Given the description of an element on the screen output the (x, y) to click on. 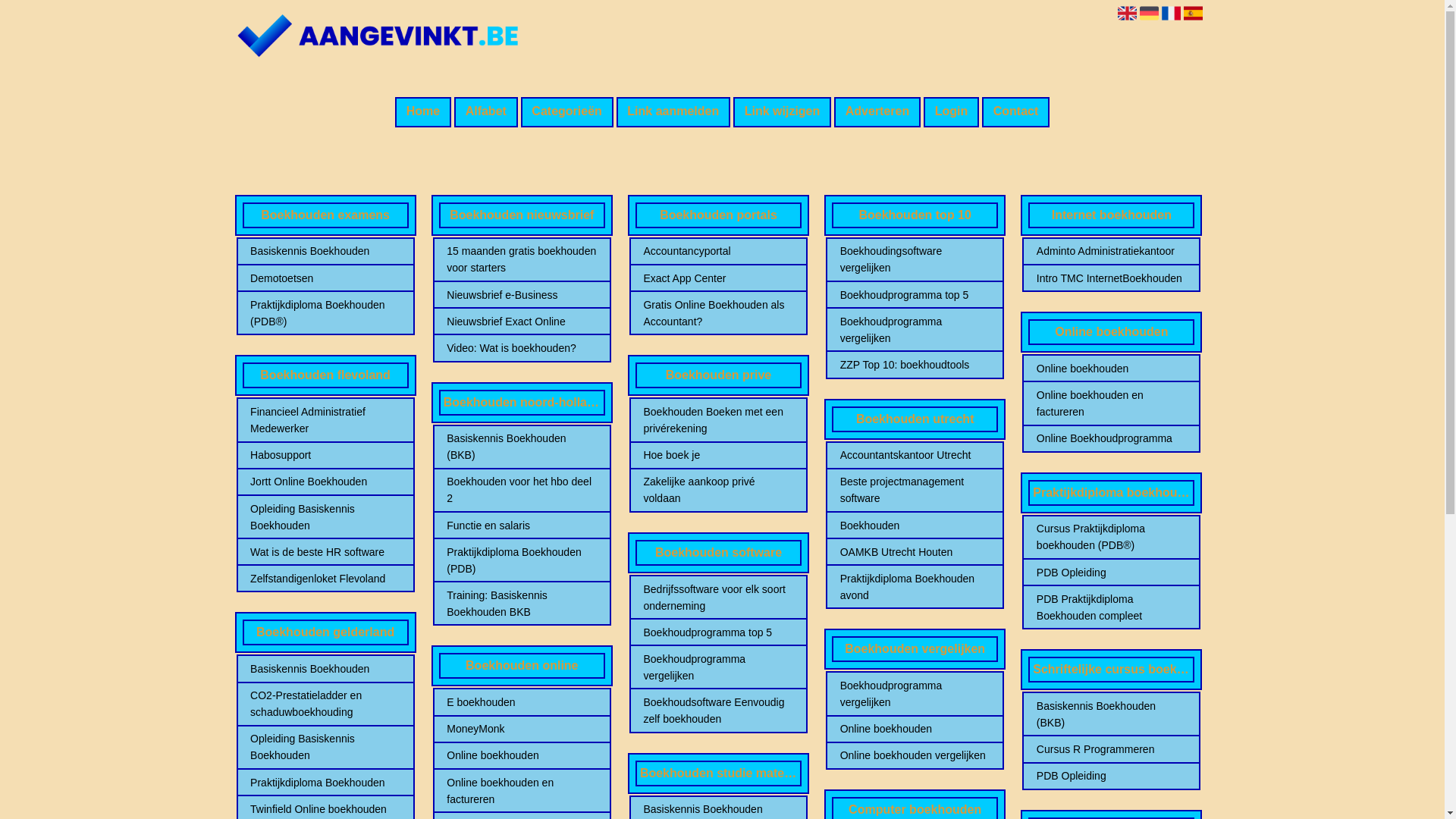
Accountancyportal Element type: text (718, 250)
Intro TMC InternetBoekhouden Element type: text (1111, 277)
Boekhoudprogramma vergelijken Element type: text (915, 693)
Contact Element type: text (1015, 112)
Boekhouden Element type: text (915, 525)
Boekhoudprogramma top 5 Element type: text (915, 294)
Boekhouden voor het hbo deel 2 Element type: text (521, 489)
Exact App Center Element type: text (718, 277)
Link aanmelden Element type: text (672, 112)
Hoe boek je Element type: text (718, 454)
Accountantskantoor Utrecht Element type: text (915, 454)
Functie en salaris Element type: text (521, 525)
Online boekhouden en factureren Element type: text (521, 790)
Cursus R Programmeren Element type: text (1111, 748)
Twinfield Online boekhouden Element type: text (325, 808)
Online boekhouden vergelijken Element type: text (915, 754)
15 maanden gratis boekhouden voor starters Element type: text (521, 259)
Home Element type: text (423, 112)
Basiskennis Boekhouden Element type: text (325, 250)
Online boekhouden Element type: text (521, 754)
Online boekhouden Element type: text (915, 728)
Online boekhouden en factureren Element type: text (1111, 403)
Basiskennis Boekhouden (BKB) Element type: text (1111, 714)
Demotoetsen Element type: text (325, 277)
Boekhoudprogramma vergelijken Element type: text (915, 329)
Adminto Administratiekantoor Element type: text (1111, 250)
PDB Opleiding Element type: text (1111, 572)
Link wijzigen Element type: text (782, 112)
Financieel Administratief Medewerker Element type: text (325, 419)
Training: Basiskennis Boekhouden BKB Element type: text (521, 603)
PDB Praktijkdiploma Boekhouden compleet Element type: text (1111, 607)
Praktijkdiploma Boekhouden (PDB) Element type: text (521, 560)
PDB Opleiding Element type: text (1111, 775)
Video: Wat is boekhouden? Element type: text (521, 347)
Opleiding Basiskennis Boekhouden Element type: text (325, 746)
Basiskennis Boekhouden Element type: text (325, 668)
Boekhoudprogramma top 5 Element type: text (718, 632)
Login Element type: text (951, 112)
Praktijkdiploma Boekhouden Element type: text (325, 782)
Boekhoudingsoftware vergelijken Element type: text (915, 259)
Wat is de beste HR software Element type: text (325, 551)
Jortt Online Boekhouden Element type: text (325, 481)
Zelfstandigenloket Flevoland Element type: text (325, 578)
Alfabet Element type: text (485, 112)
Nieuwsbrief Exact Online Element type: text (521, 321)
CO2-Prestatieladder en schaduwboekhouding Element type: text (325, 703)
Nieuwsbrief e-Business Element type: text (521, 294)
Boekhoudsoftware Eenvoudig zelf boekhouden Element type: text (718, 710)
MoneyMonk Element type: text (521, 728)
Boekhoudprogramma vergelijken Element type: text (718, 667)
ZZP Top 10: boekhoudtools Element type: text (915, 364)
Gratis Online Boekhouden als Accountant? Element type: text (718, 312)
Beste projectmanagement software Element type: text (915, 489)
Adverteren Element type: text (877, 112)
Online Boekhoudprogramma Element type: text (1111, 437)
Habosupport Element type: text (325, 454)
OAMKB Utrecht Houten Element type: text (915, 551)
E boekhouden Element type: text (521, 701)
Praktijkdiploma Boekhouden avond Element type: text (915, 586)
Opleiding Basiskennis Boekhouden Element type: text (325, 516)
Online boekhouden Element type: text (1111, 368)
Bedrijfssoftware voor elk soort onderneming Element type: text (718, 597)
Basiskennis Boekhouden (BKB) Element type: text (521, 446)
